Given the description of an element on the screen output the (x, y) to click on. 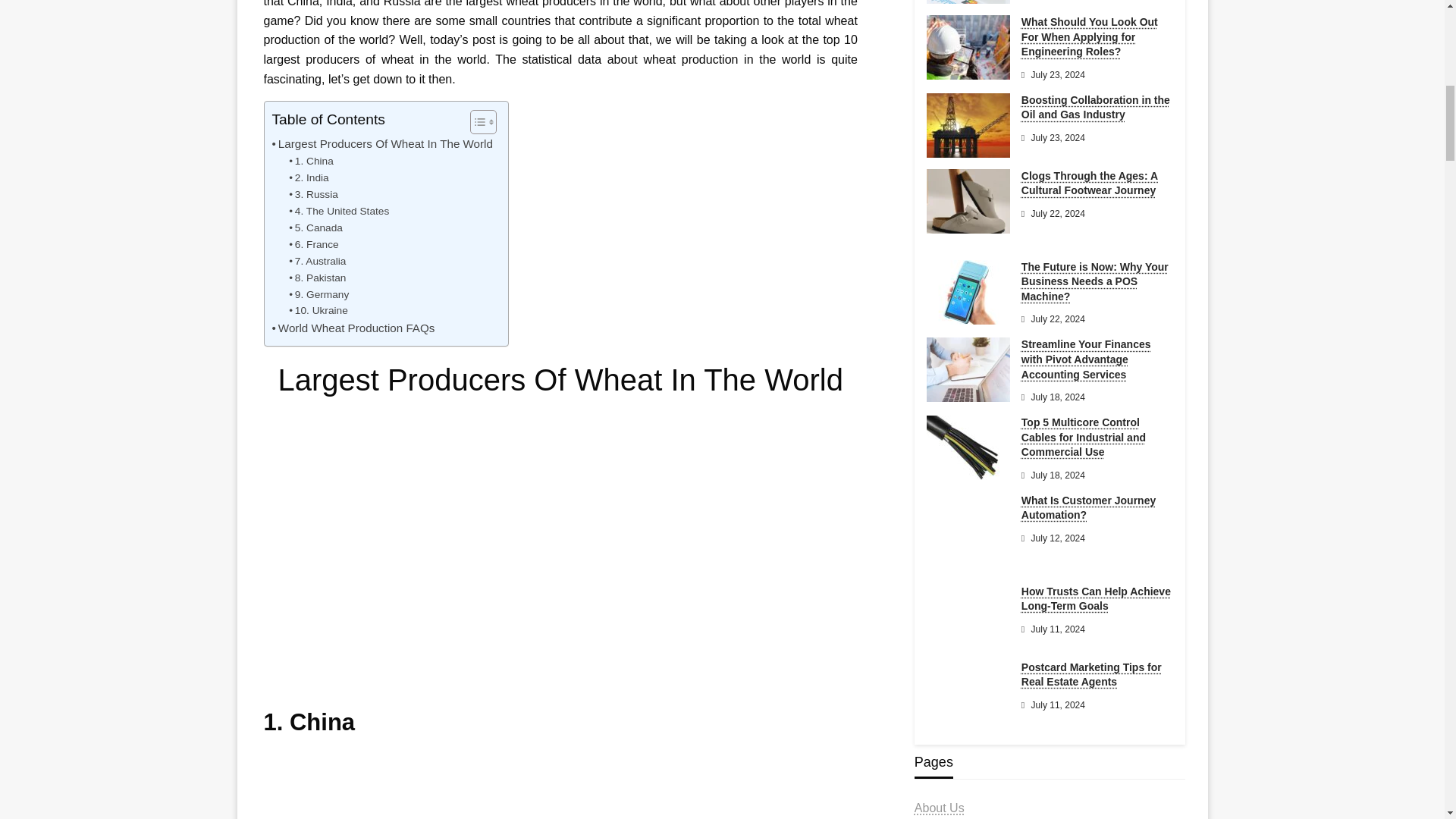
3. Russia (312, 194)
1. China (310, 161)
Largest Producers Of Wheat In The World (381, 144)
7. Australia (317, 261)
6. France (312, 244)
2. India (308, 177)
2. India (308, 177)
5. Canada (315, 228)
1. China (310, 161)
Largest Producers Of Wheat In The World (381, 144)
4. The United States (338, 211)
